Given the description of an element on the screen output the (x, y) to click on. 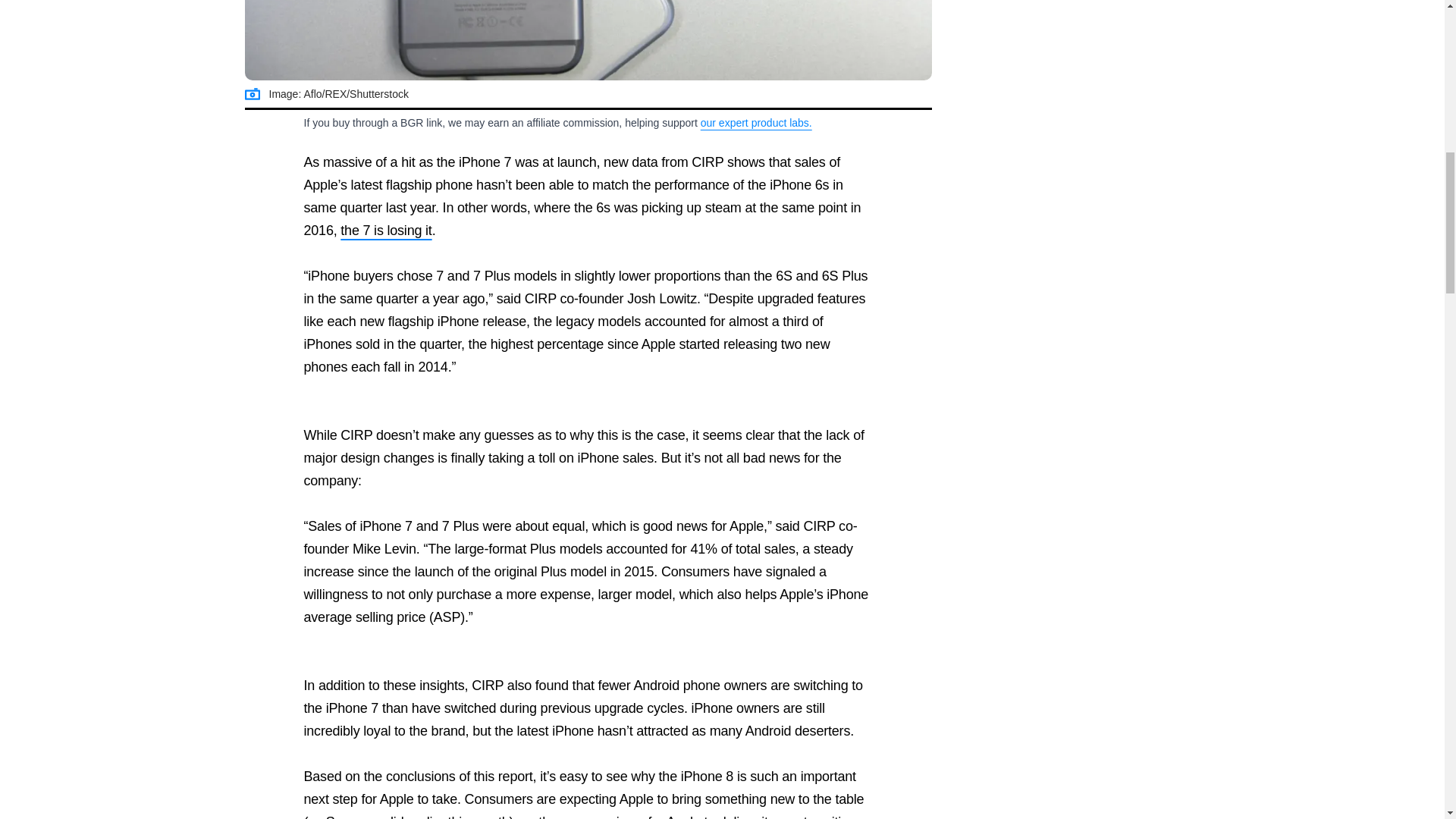
iPhone 7 vs. iPhone 6s (587, 40)
